Given the description of an element on the screen output the (x, y) to click on. 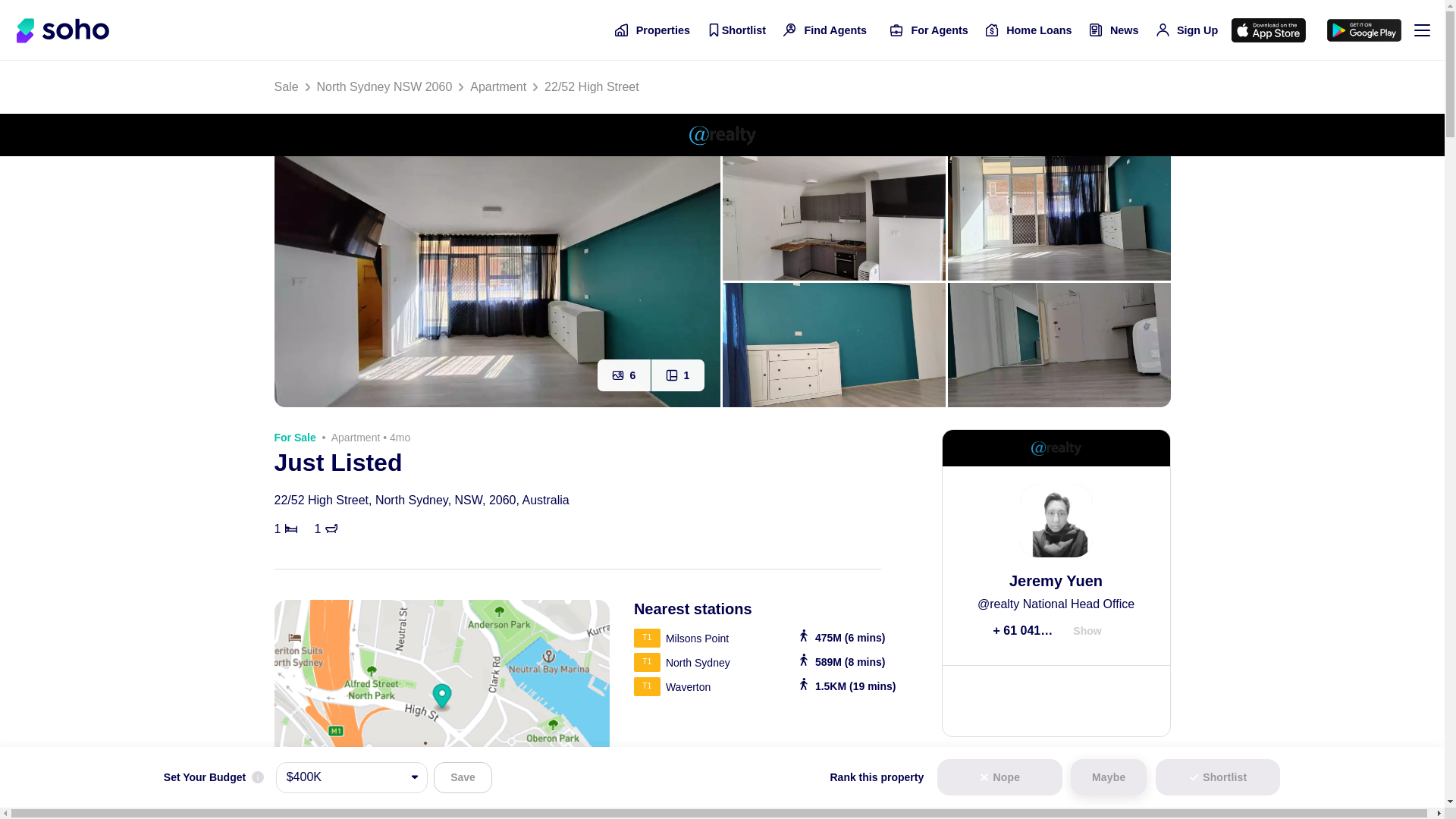
6 (623, 375)
1 (676, 375)
Find Agents (825, 30)
Indicate that this property does not interest you (999, 777)
Bedrooms (291, 528)
News (1113, 30)
For Agents (929, 30)
Properties (652, 30)
Bathrooms (330, 528)
Shortlist (736, 30)
Click to load interactive map (442, 709)
Download the Soho App in the Google Play Store (1364, 30)
Home Loans (1028, 30)
Sale (286, 86)
Sign Up (1187, 30)
